Given the description of an element on the screen output the (x, y) to click on. 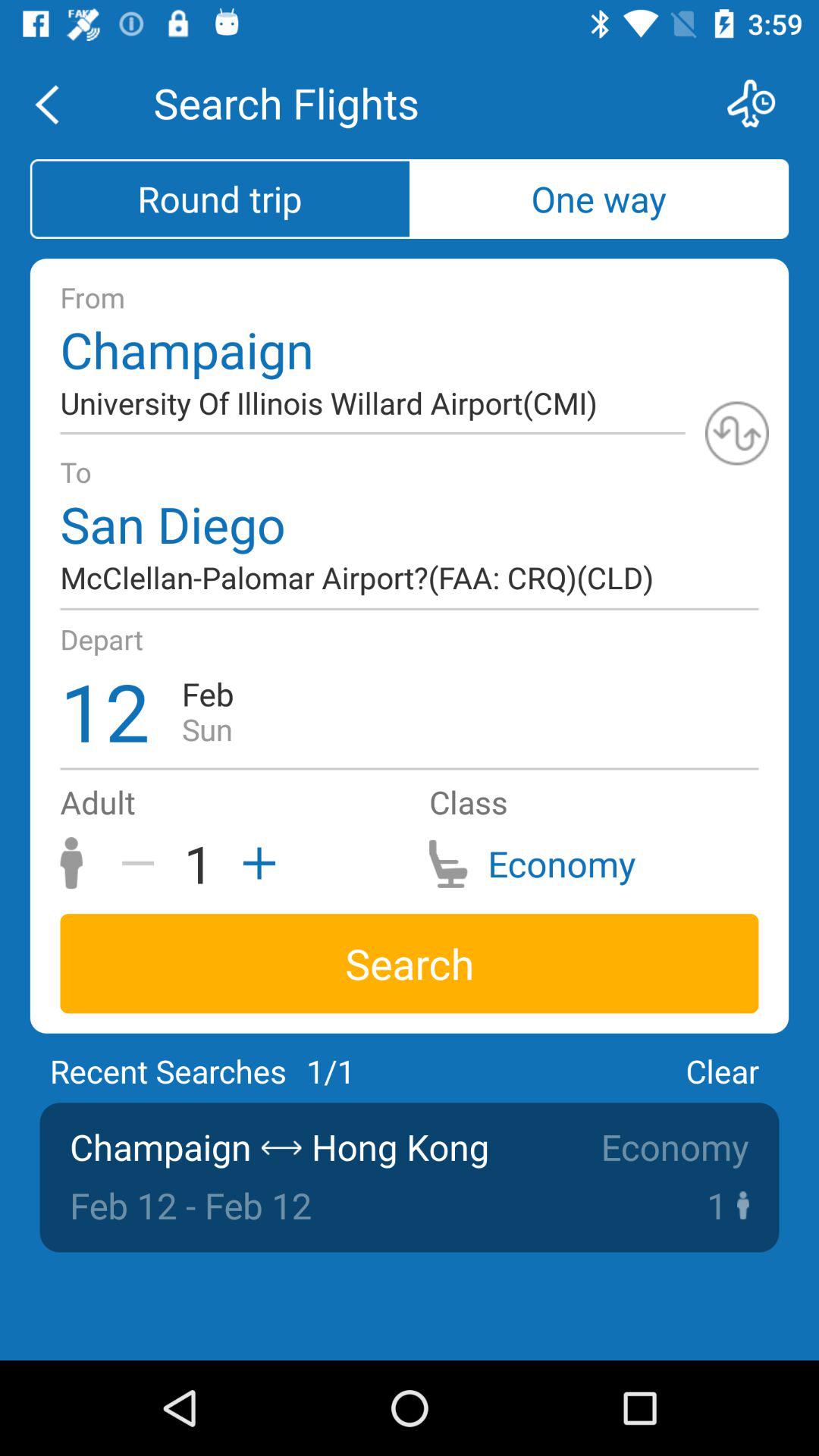
click the icon next to 1/1 icon (722, 1070)
